Given the description of an element on the screen output the (x, y) to click on. 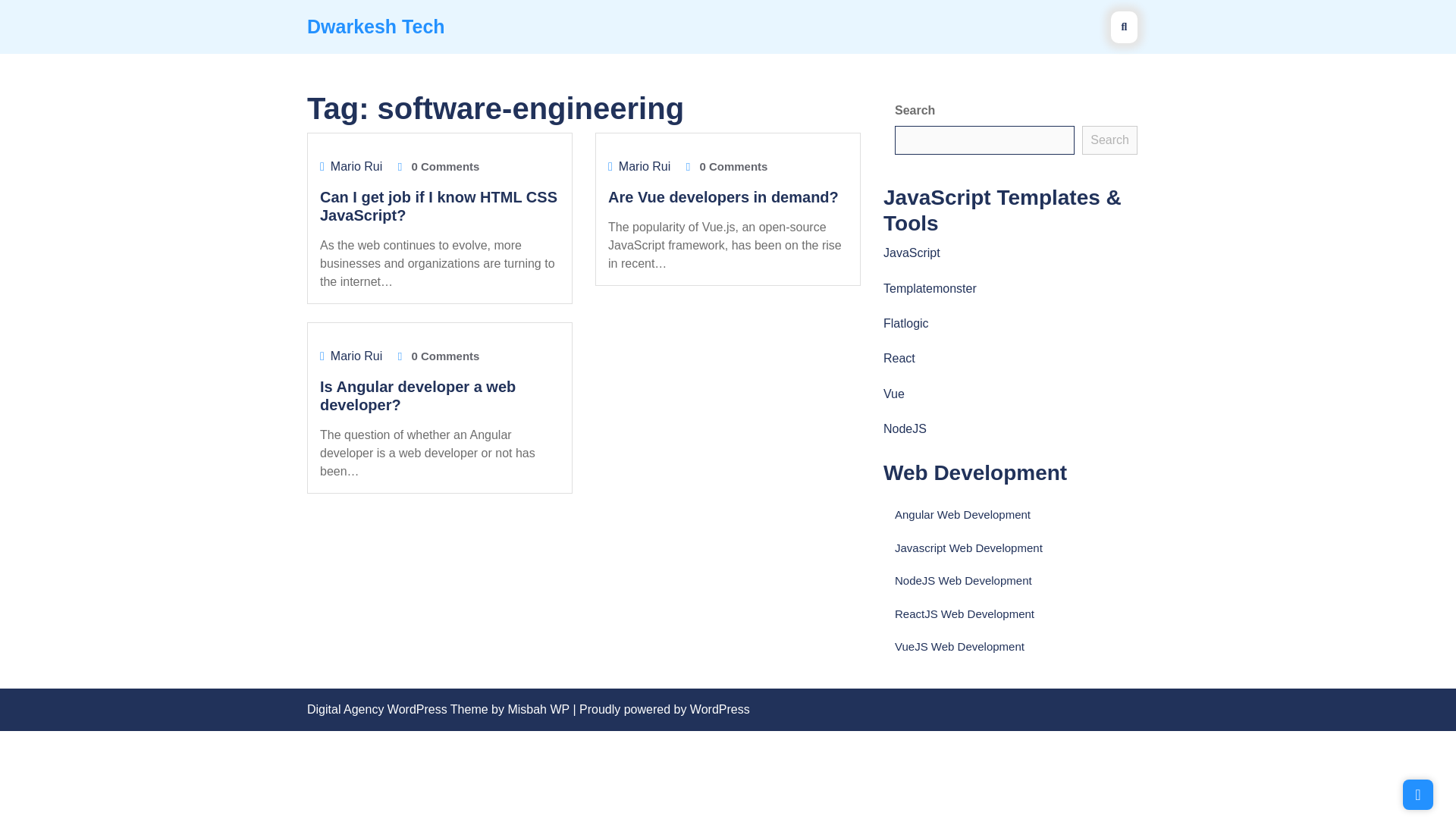
Search (1109, 140)
Dwarkesh Tech (376, 25)
NodeJS Web Development (963, 580)
Vue (893, 393)
NodeJS (904, 428)
VueJS Web Development (960, 645)
Mario Rui (355, 355)
Are Vue developers in demand? (723, 197)
JavaScript (911, 252)
Is Angular developer a web developer? (417, 395)
Mario Rui (355, 165)
Flatlogic (905, 323)
Angular Web Development (962, 513)
Can I get job if I know HTML CSS JavaScript? (438, 206)
Mario Rui (643, 165)
